Given the description of an element on the screen output the (x, y) to click on. 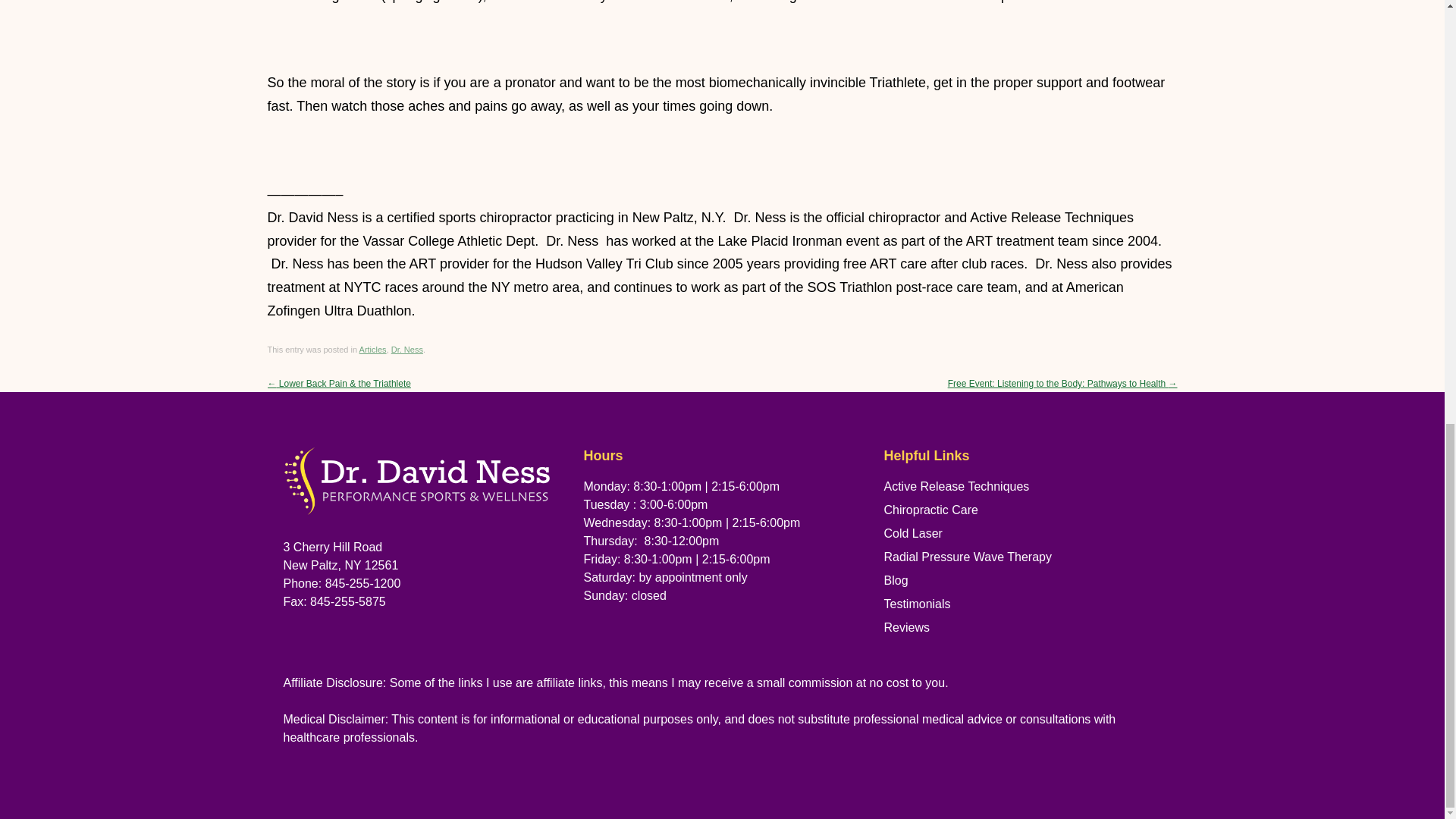
Chiropractic Care (930, 509)
845-255-1200 (362, 583)
Active Release Techniques (956, 486)
845-255-5875 (347, 601)
Testimonials (916, 603)
Reviews (906, 626)
Cold Laser (912, 533)
Blog (895, 580)
Radial Pressure Wave Therapy (967, 556)
Articles (373, 348)
